Given the description of an element on the screen output the (x, y) to click on. 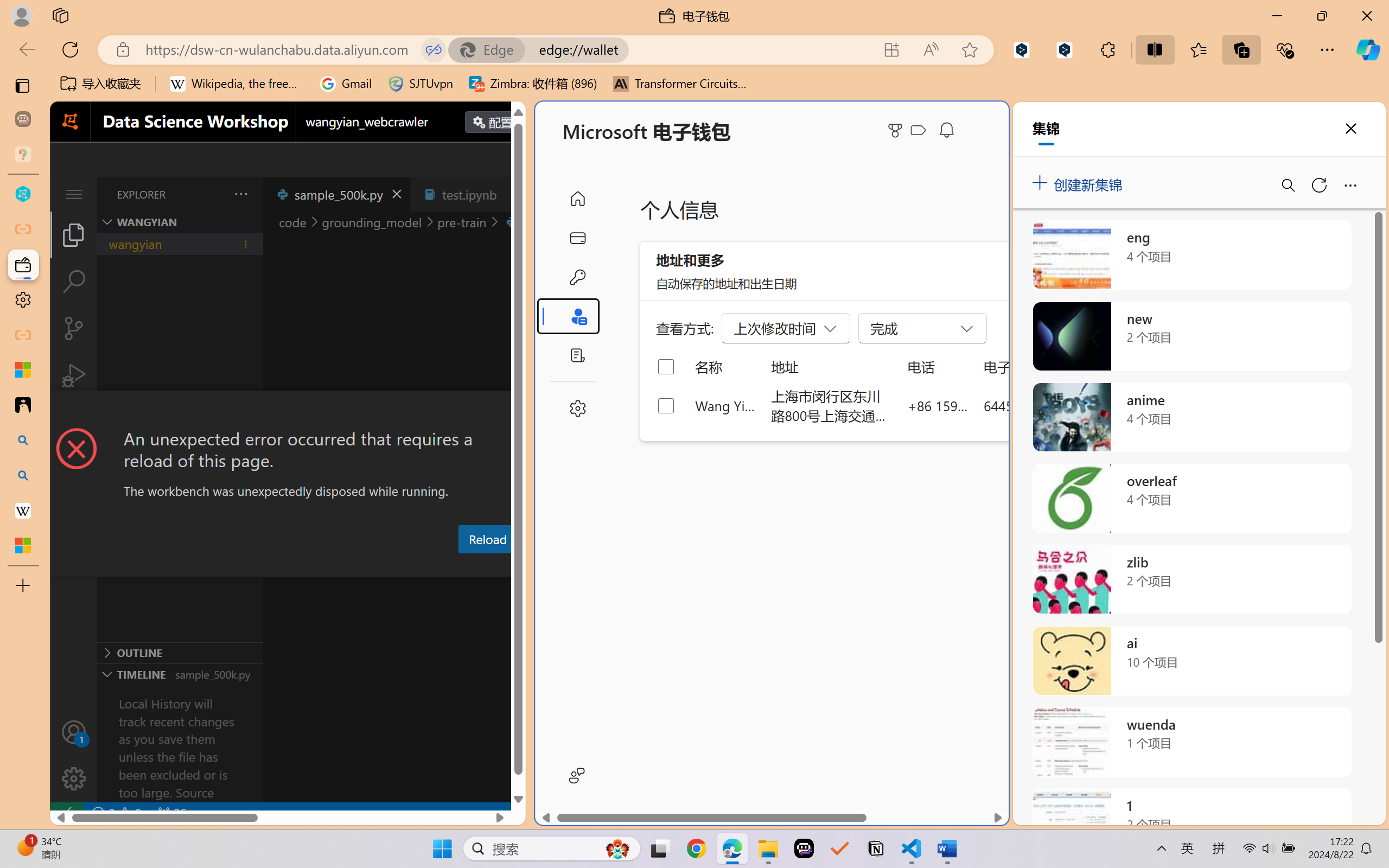
Transformer Circuits Thread (680, 83)
Wang Yian (725, 405)
Edge (492, 49)
